Given the description of an element on the screen output the (x, y) to click on. 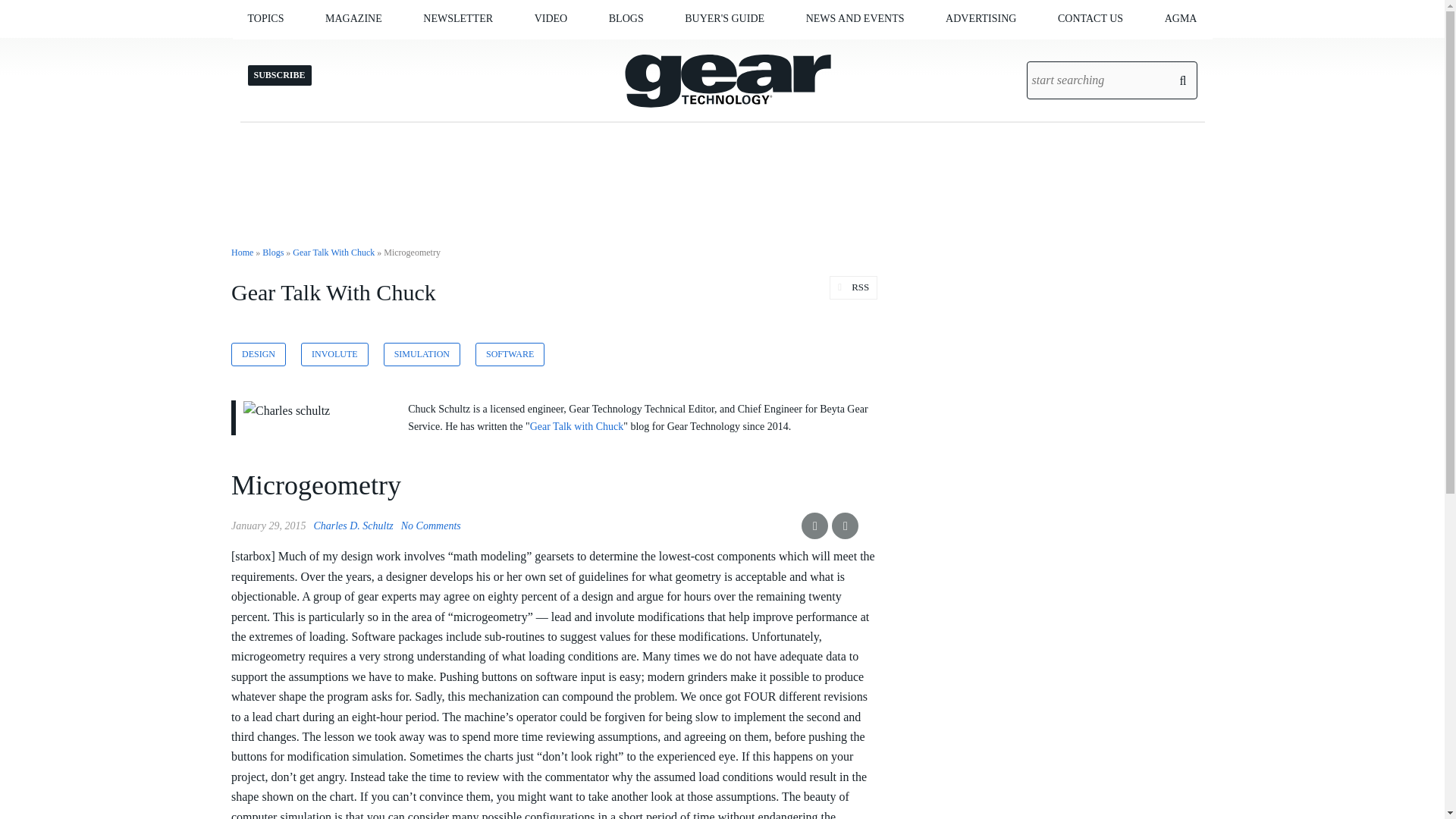
PRODUCT NEWS (882, 50)
SUBSCRIBE (499, 50)
HEAT TREATING (338, 50)
TOPICS (265, 18)
SUBSCRIBE (416, 50)
INSPECTION (334, 50)
BLOGS (625, 18)
LUBRICATION (342, 50)
ARCHIVES (411, 50)
BRAND AWARENESS (1020, 50)
